Given the description of an element on the screen output the (x, y) to click on. 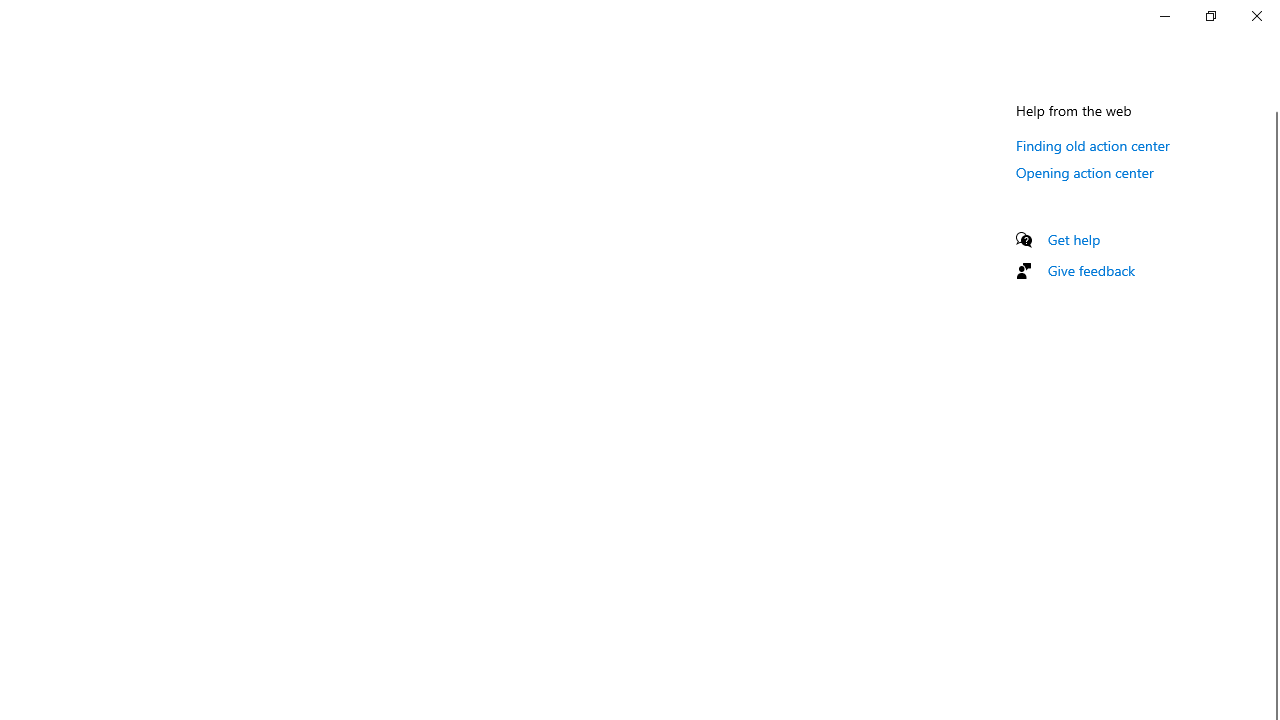
Get help (1074, 239)
Give feedback (1091, 270)
Close Settings (1256, 15)
Vertical Small Decrease (1272, 103)
Opening action center (1085, 172)
Minimize Settings (1164, 15)
Restore Settings (1210, 15)
Finding old action center (1092, 145)
